Given the description of an element on the screen output the (x, y) to click on. 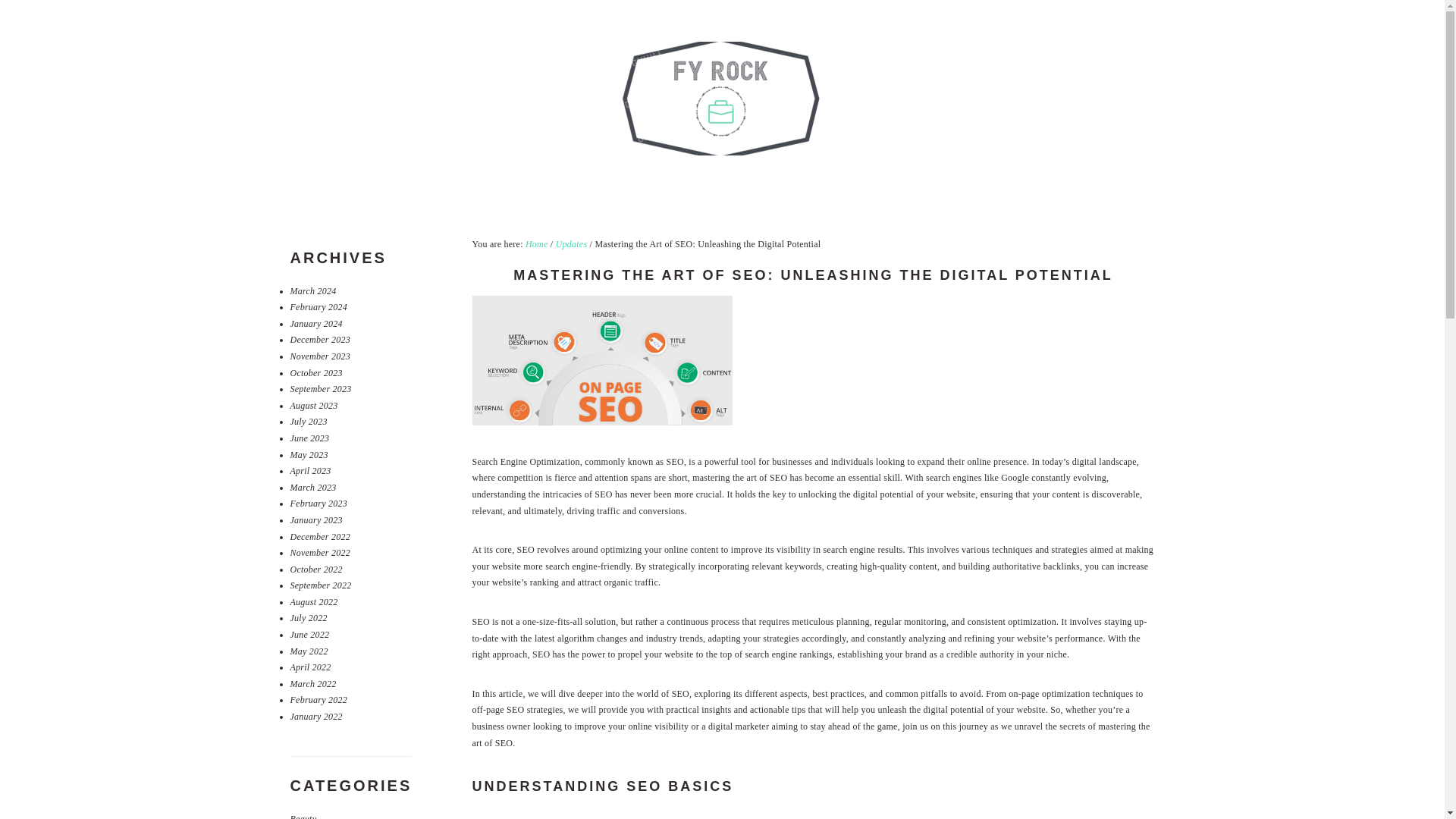
May 2023 (308, 454)
February 2023 (317, 502)
September 2022 (319, 584)
October 2022 (315, 569)
January 2023 (315, 520)
January 2022 (315, 716)
July 2023 (307, 421)
August 2023 (313, 405)
April 2023 (309, 470)
October 2023 (315, 372)
February 2022 (317, 699)
May 2022 (308, 651)
December 2022 (319, 535)
Updates (572, 244)
September 2023 (319, 388)
